Given the description of an element on the screen output the (x, y) to click on. 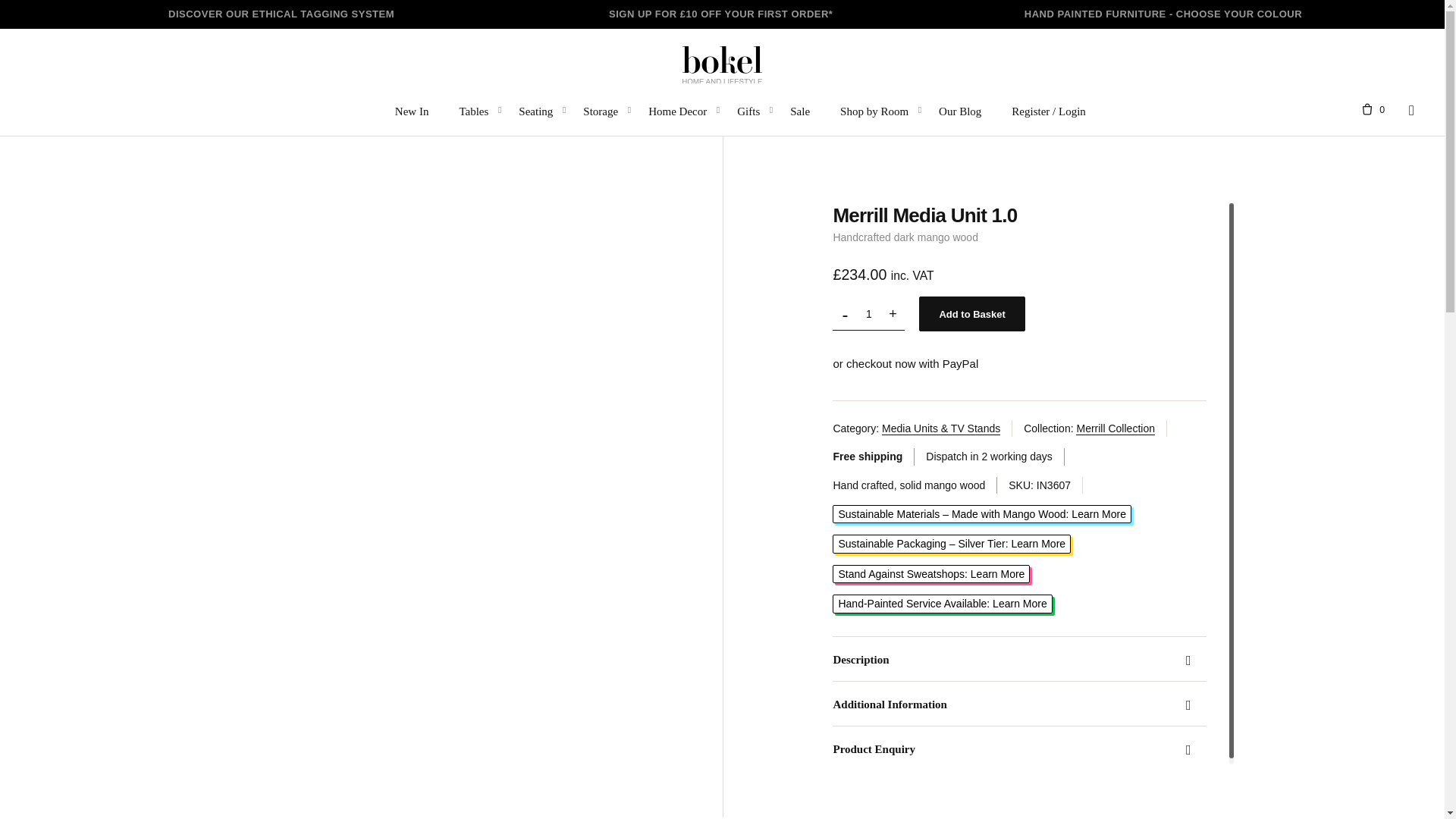
Tables (473, 110)
DISCOVER OUR ETHICAL TAGGING SYSTEM (280, 14)
Qty (868, 313)
New In (412, 110)
1 (868, 313)
HAND PAINTED FURNITURE - CHOOSE YOUR COLOUR (1162, 14)
0 (1368, 109)
Seating (535, 110)
